Given the description of an element on the screen output the (x, y) to click on. 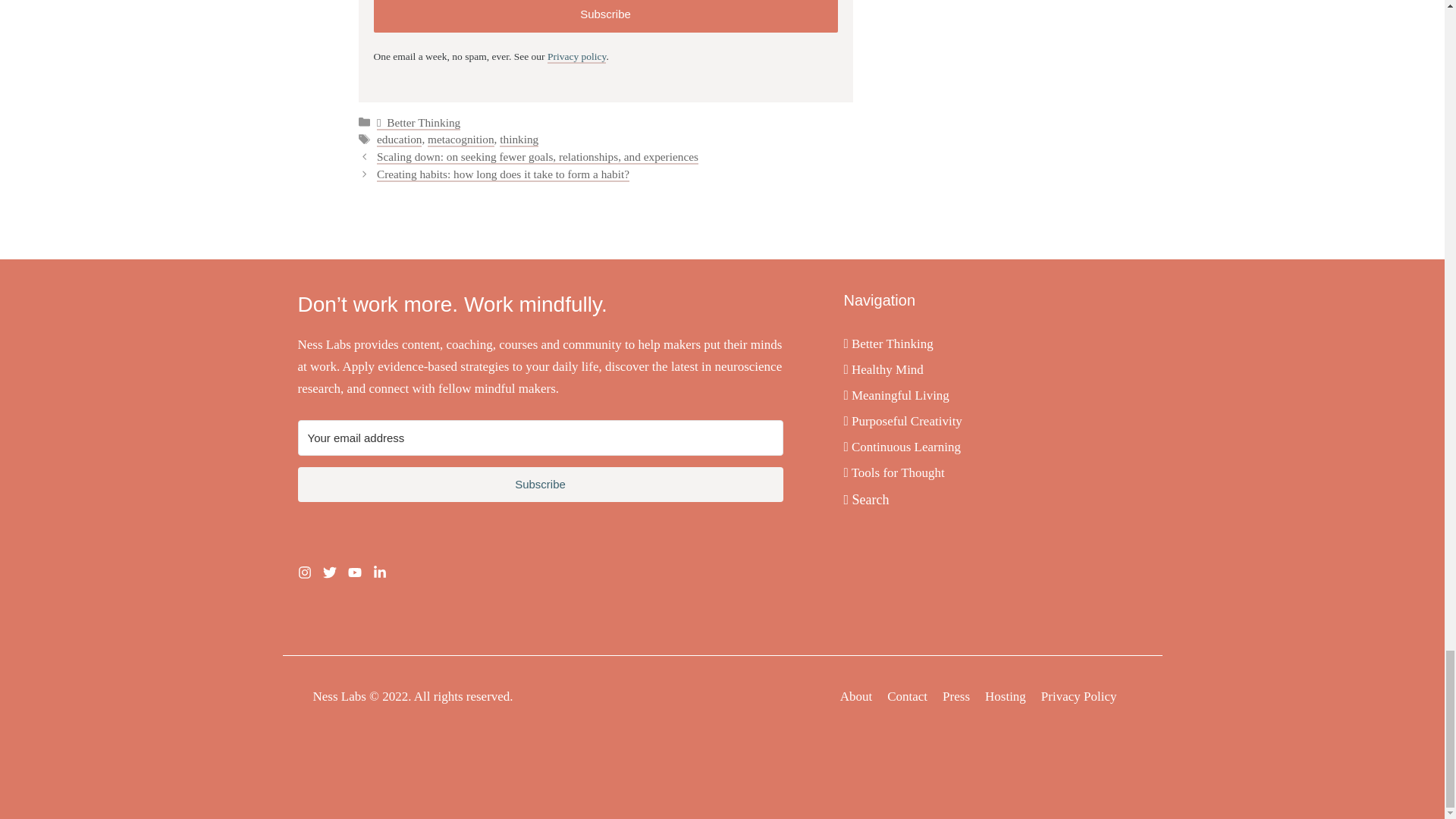
Creating habits: how long does it take to form a habit? (502, 174)
education (399, 139)
thinking (518, 139)
Privacy policy (576, 56)
Subscribe (604, 16)
metacognition (461, 139)
Subscribe (540, 484)
